Given the description of an element on the screen output the (x, y) to click on. 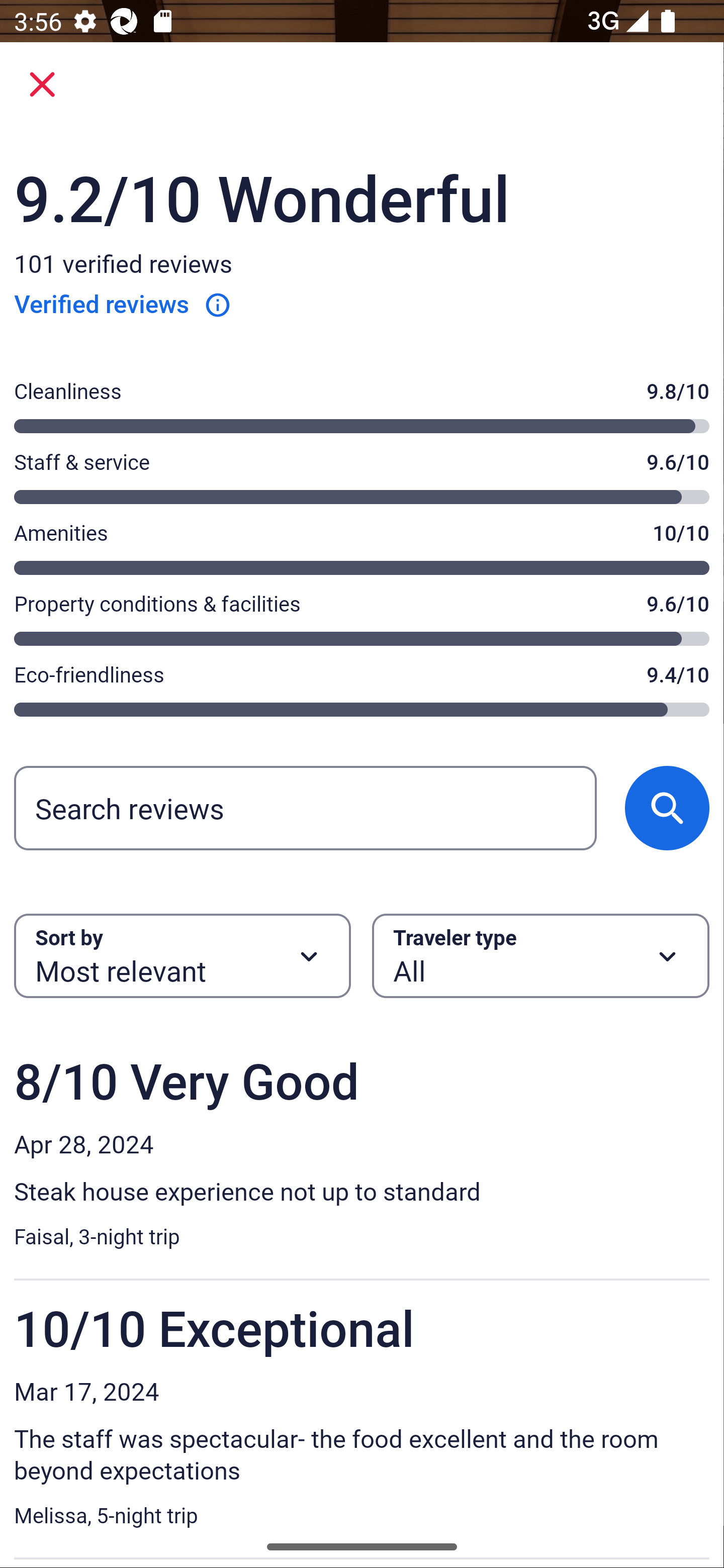
Close (42, 84)
Verified reviews (122, 303)
Search reviews (304, 807)
Search reviews button (666, 807)
Sort by Button Most relevant (182, 956)
Traveler type Button All (540, 956)
